Given the description of an element on the screen output the (x, y) to click on. 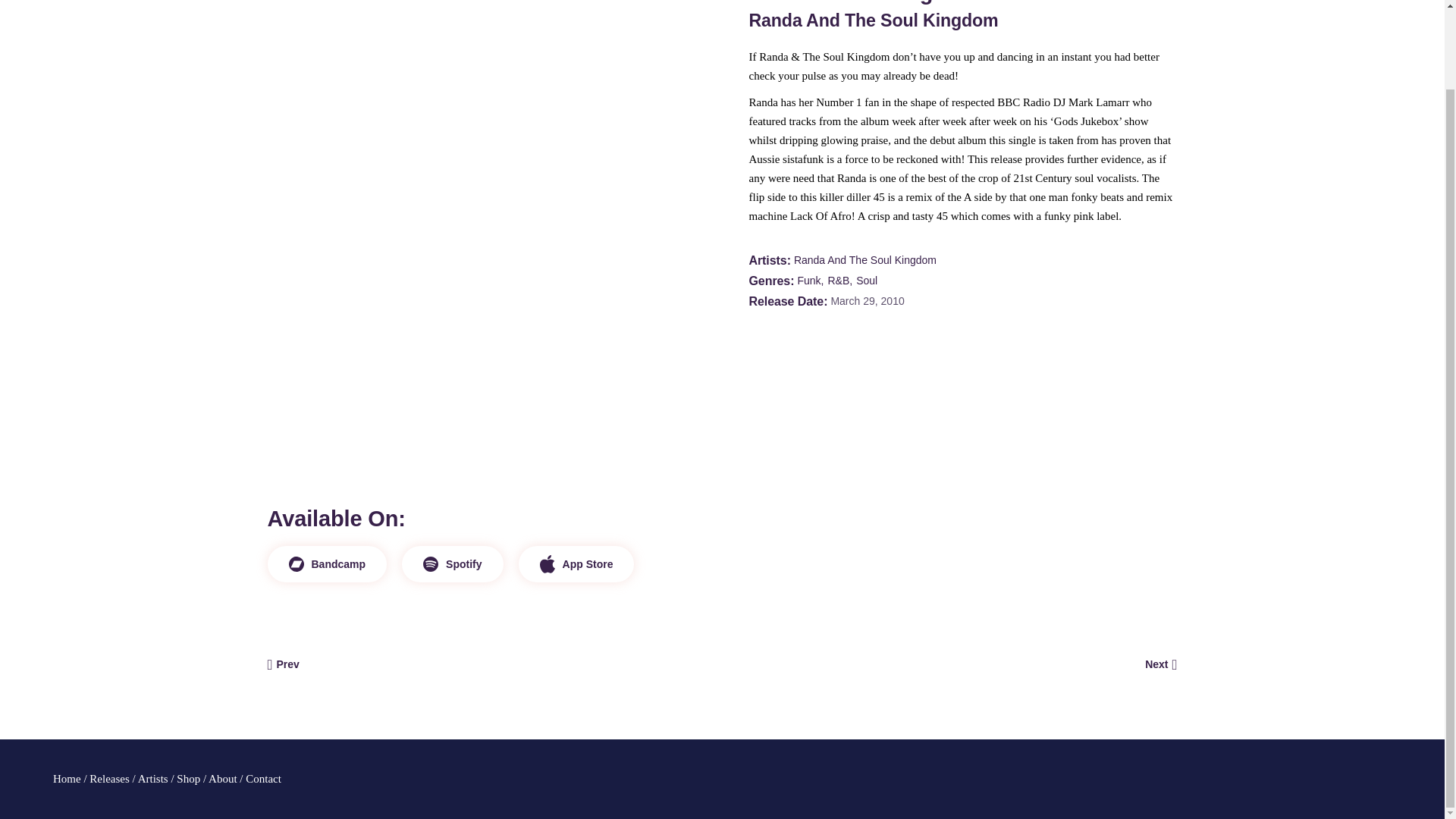
Bandcamp (326, 564)
Spotify (451, 564)
About (222, 778)
Next (1160, 664)
Prev (282, 664)
Artists (153, 778)
Home (66, 778)
Itunes (576, 564)
Releases (108, 778)
Spotify (451, 564)
Soul (866, 280)
Bandcamp (326, 564)
Shop (188, 778)
Funk (811, 280)
App Store (576, 564)
